Given the description of an element on the screen output the (x, y) to click on. 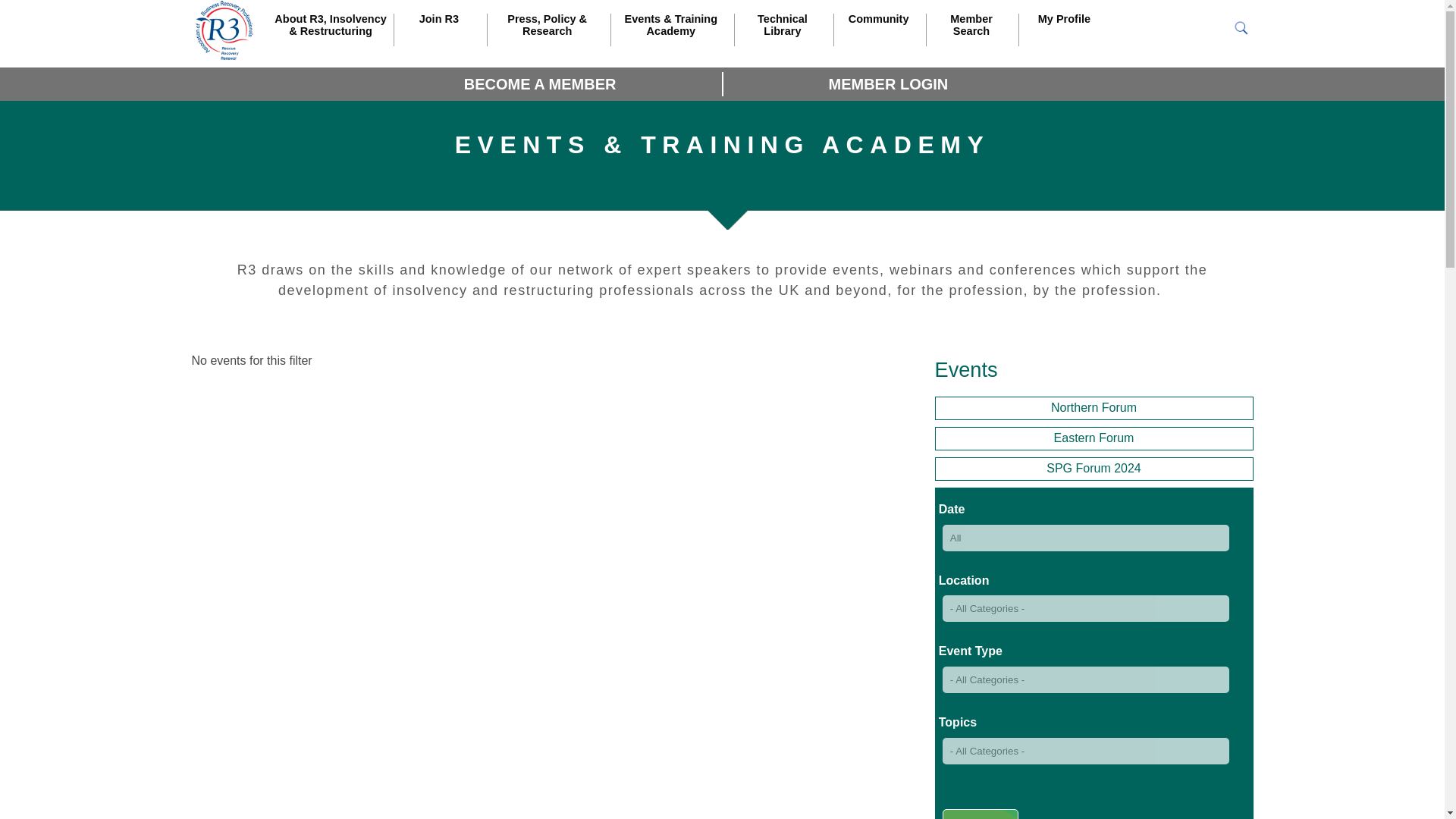
Filter (979, 814)
Join R3 (438, 32)
